Given the description of an element on the screen output the (x, y) to click on. 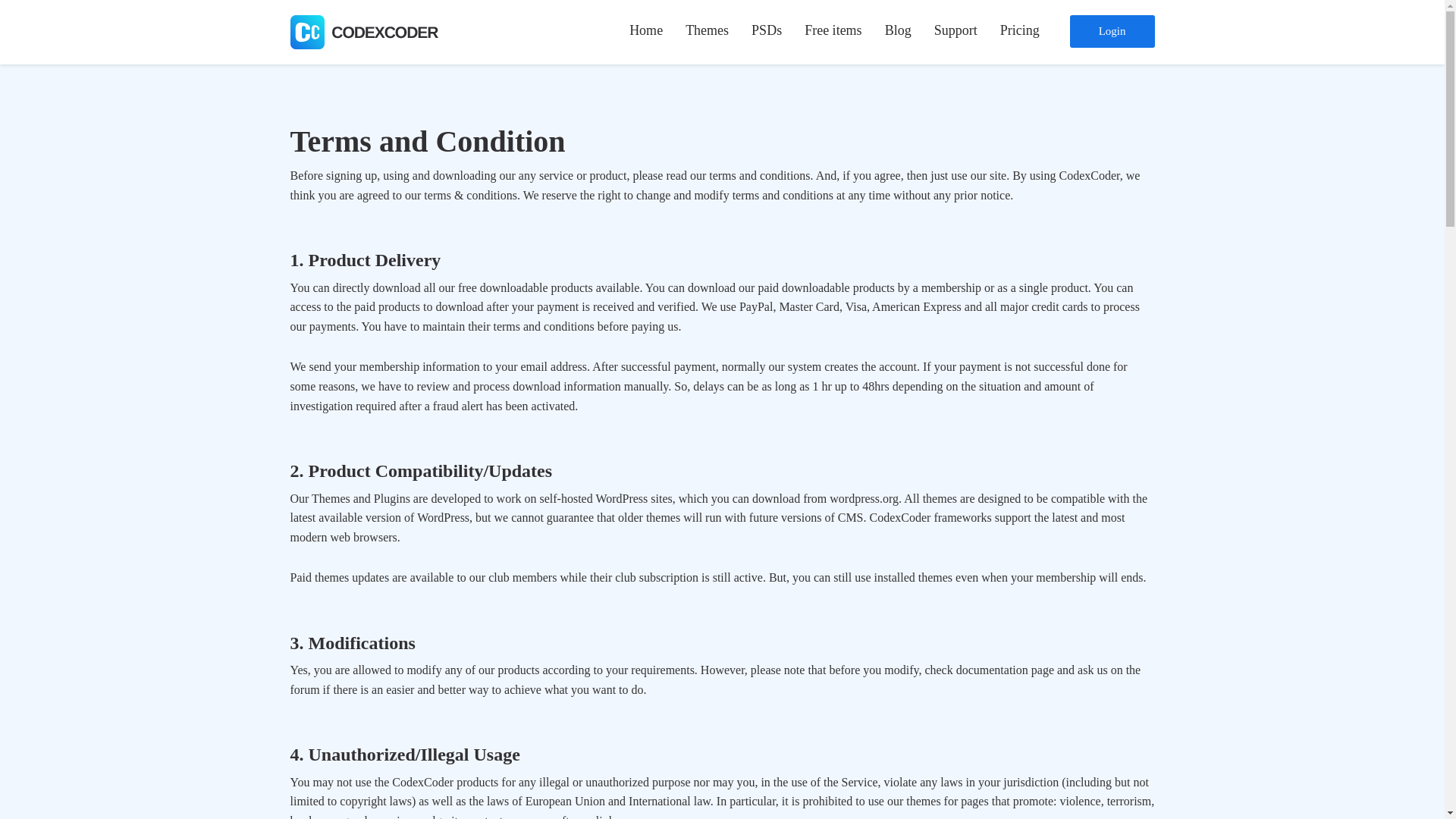
Blog (898, 30)
Blog (898, 30)
Themes (706, 30)
Pricing (1019, 30)
Free items (832, 30)
Free items (832, 30)
Support (955, 30)
FAQ (1036, 71)
Free WordPress Themes (907, 71)
Themes (706, 30)
